Given the description of an element on the screen output the (x, y) to click on. 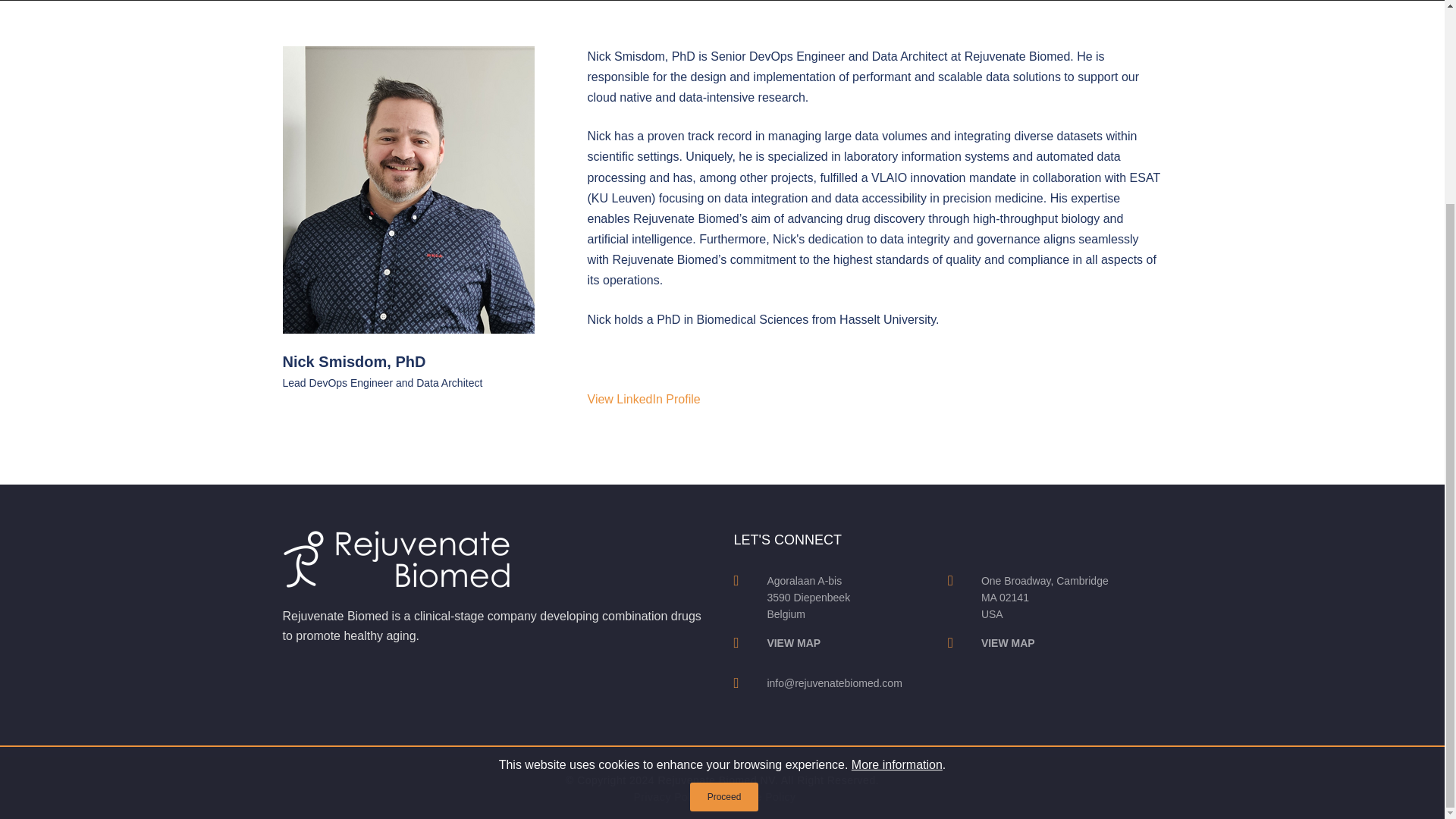
VIEW MAP (1008, 643)
Privacy Policy (668, 797)
View LinkedIn Profile (644, 399)
Cookie Policy (760, 797)
Proceed (724, 535)
More information (896, 503)
VIEW MAP (794, 643)
